Given the description of an element on the screen output the (x, y) to click on. 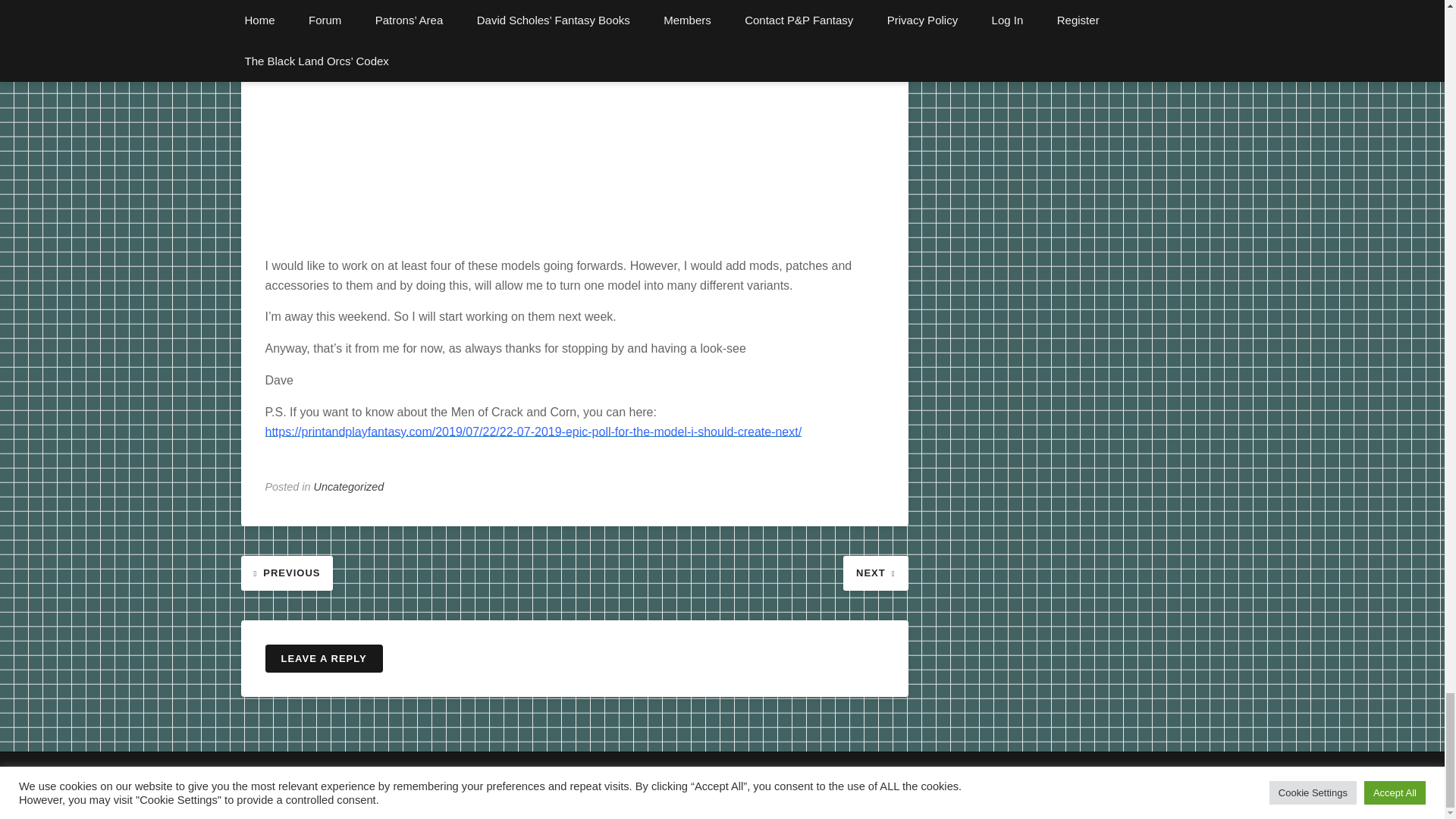
Uncategorized (349, 486)
NEXT (875, 571)
PREVIOUS (287, 571)
LEAVE A REPLY (323, 658)
